Given the description of an element on the screen output the (x, y) to click on. 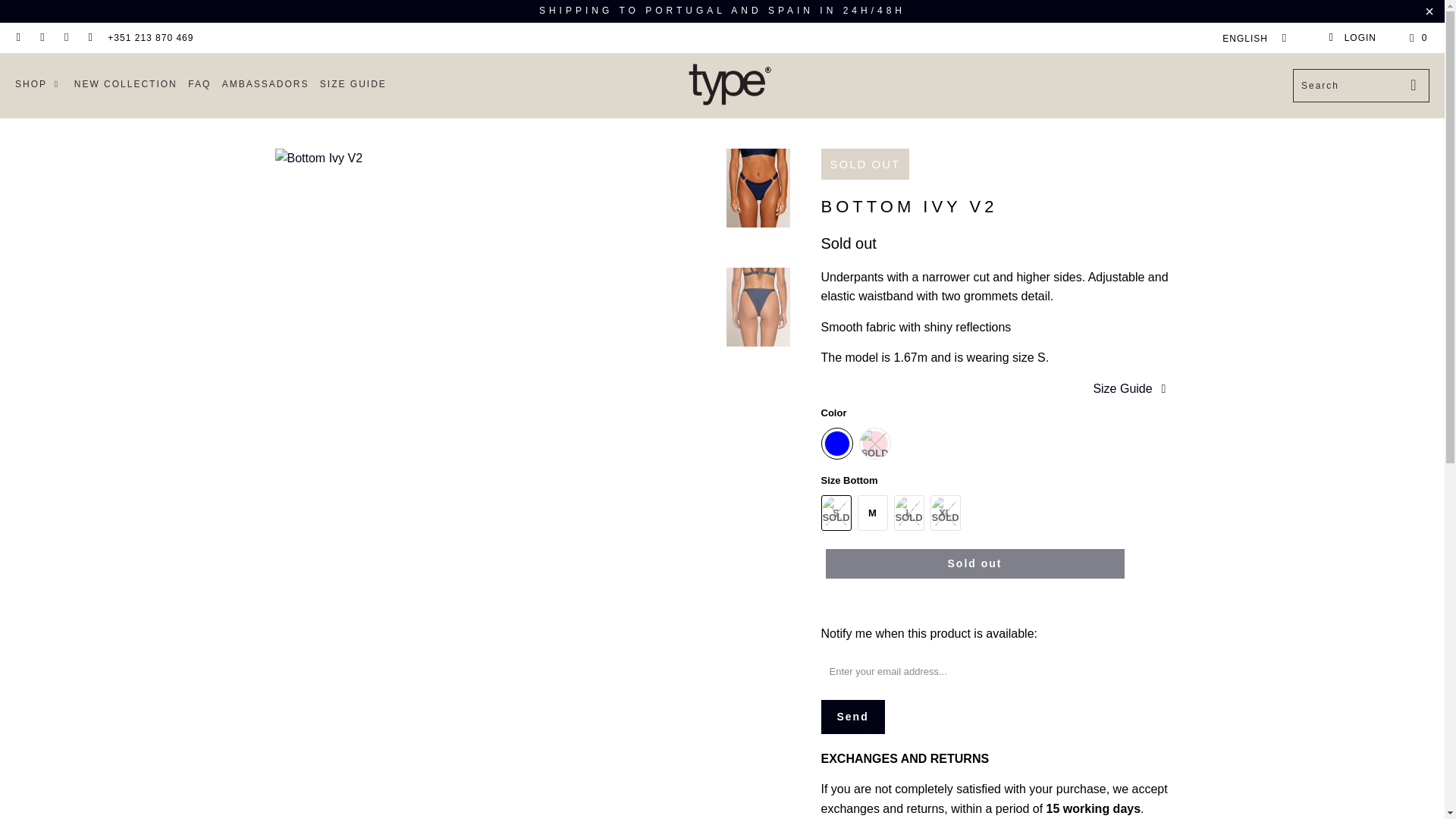
My Account  (1351, 37)
Email Type (89, 37)
Type on Facebook (17, 37)
Type (729, 85)
Send (852, 716)
Type on Pinterest (41, 37)
Type on Instagram (65, 37)
